Given the description of an element on the screen output the (x, y) to click on. 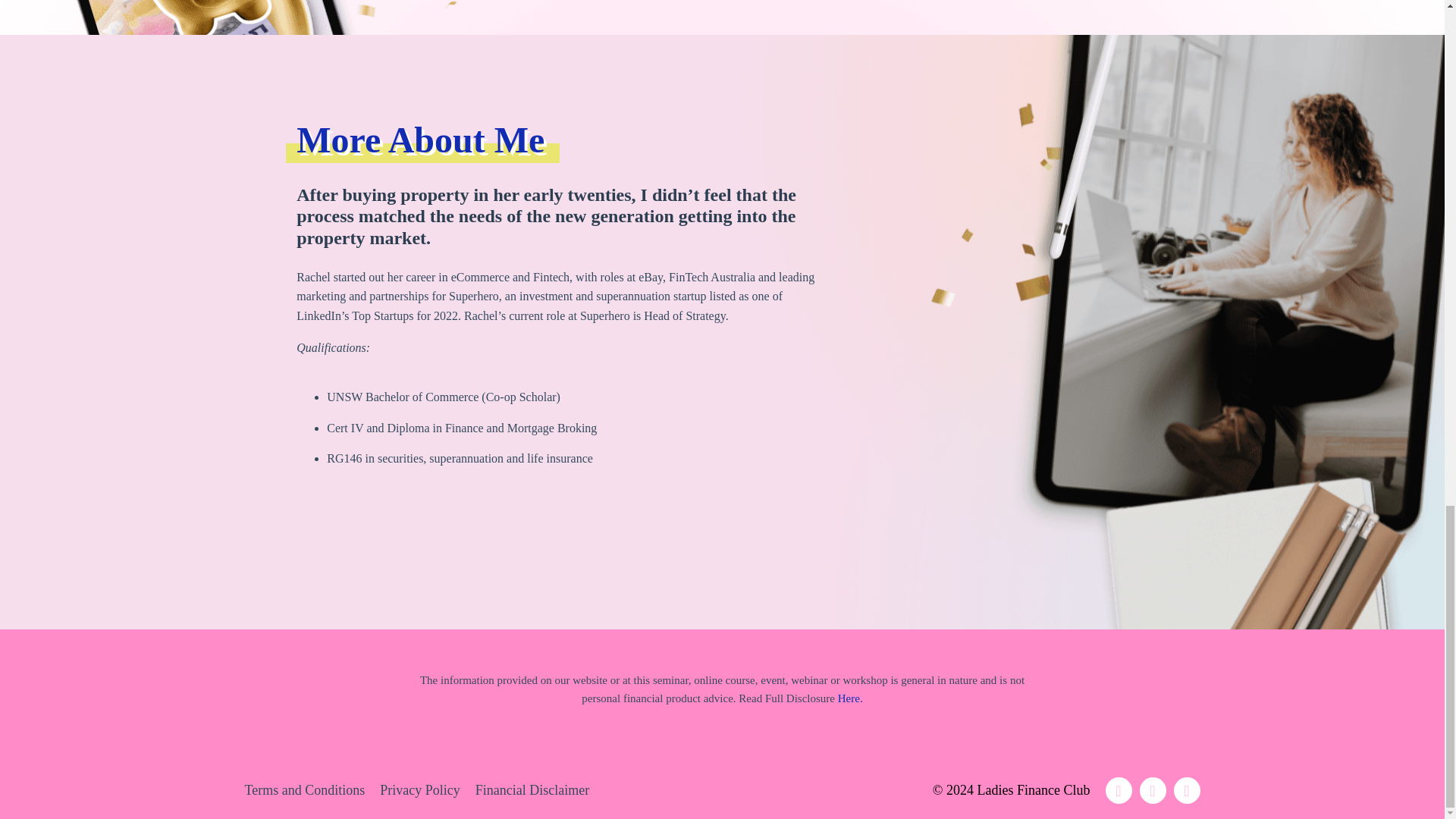
Here. (850, 698)
Privacy Policy (420, 790)
Financial Disclaimer (532, 790)
Terms and Conditions (304, 790)
